Given the description of an element on the screen output the (x, y) to click on. 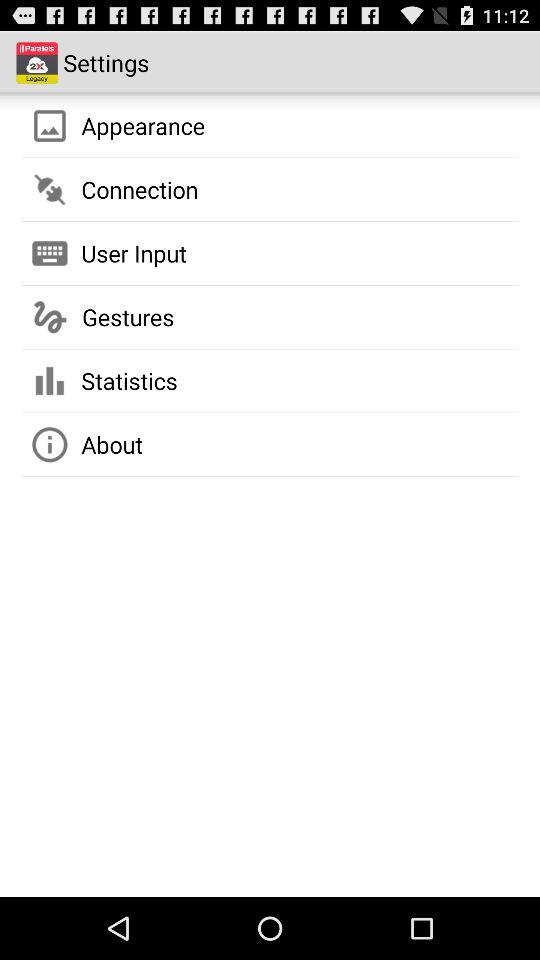
click the app above user input icon (139, 189)
